Given the description of an element on the screen output the (x, y) to click on. 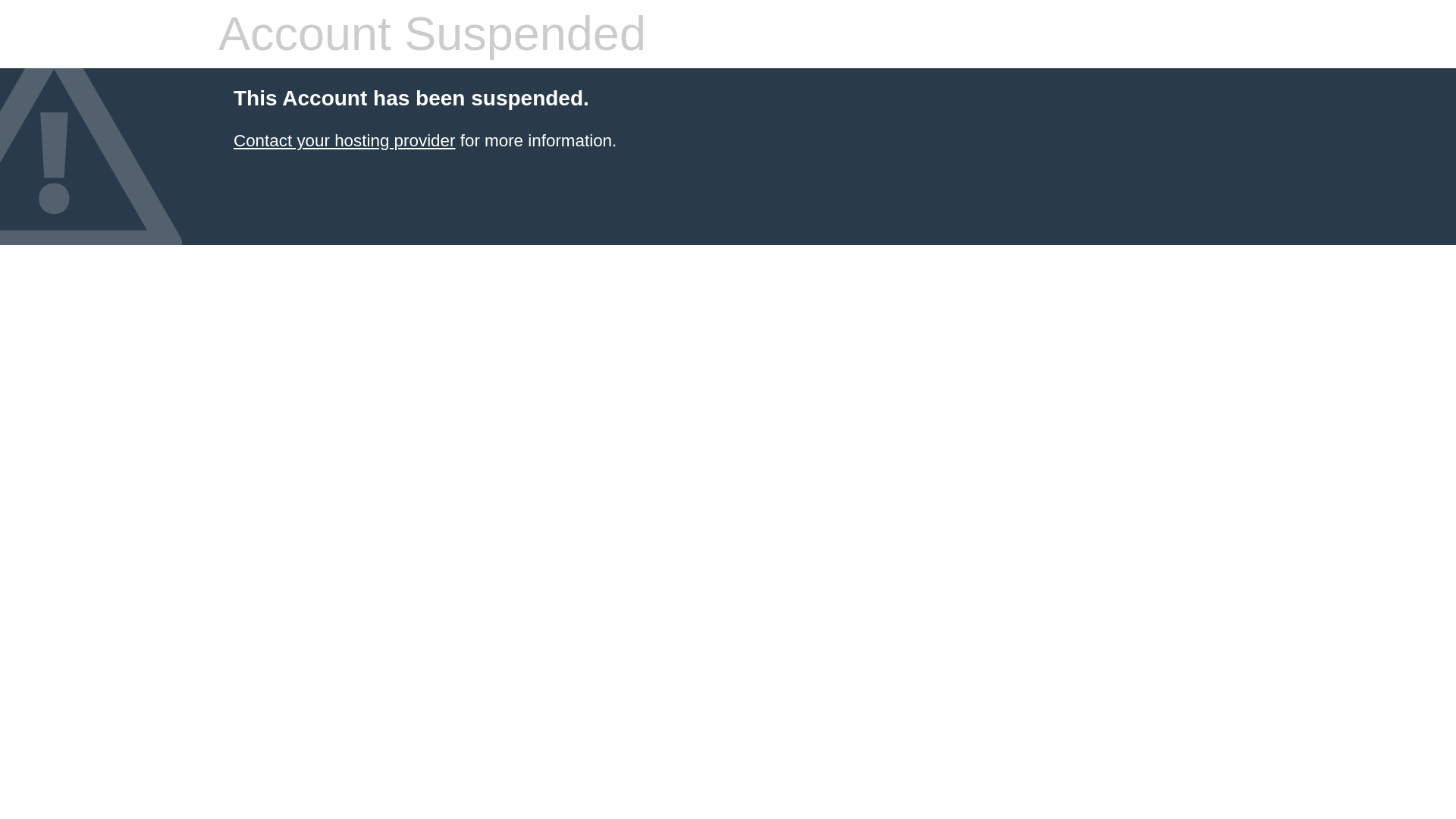
Contact your hosting provider (343, 140)
